Given the description of an element on the screen output the (x, y) to click on. 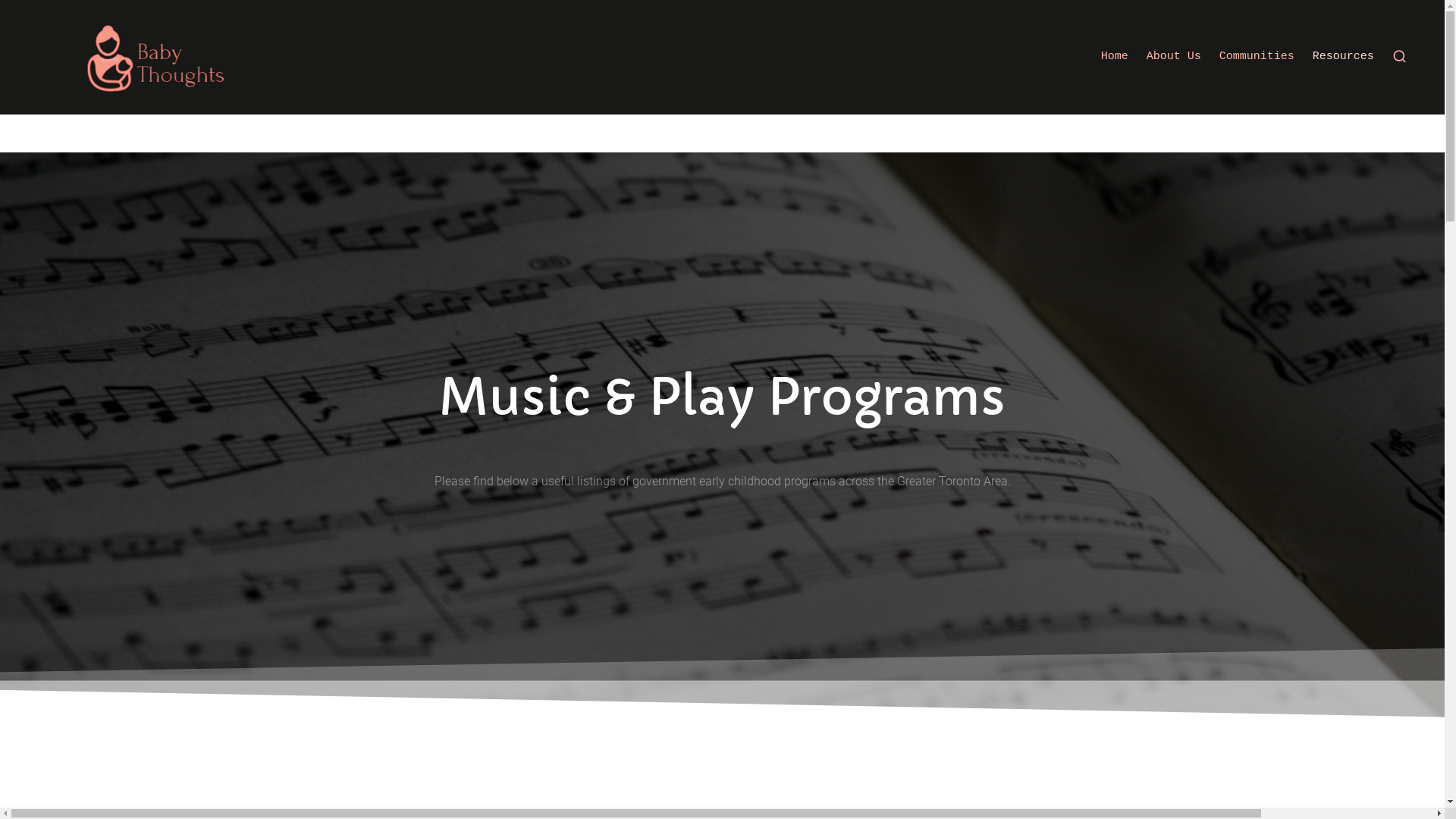
Resources Element type: text (1343, 56)
About Us Element type: text (1173, 56)
Home Element type: text (1114, 56)
Communities Element type: text (1256, 56)
